Given the description of an element on the screen output the (x, y) to click on. 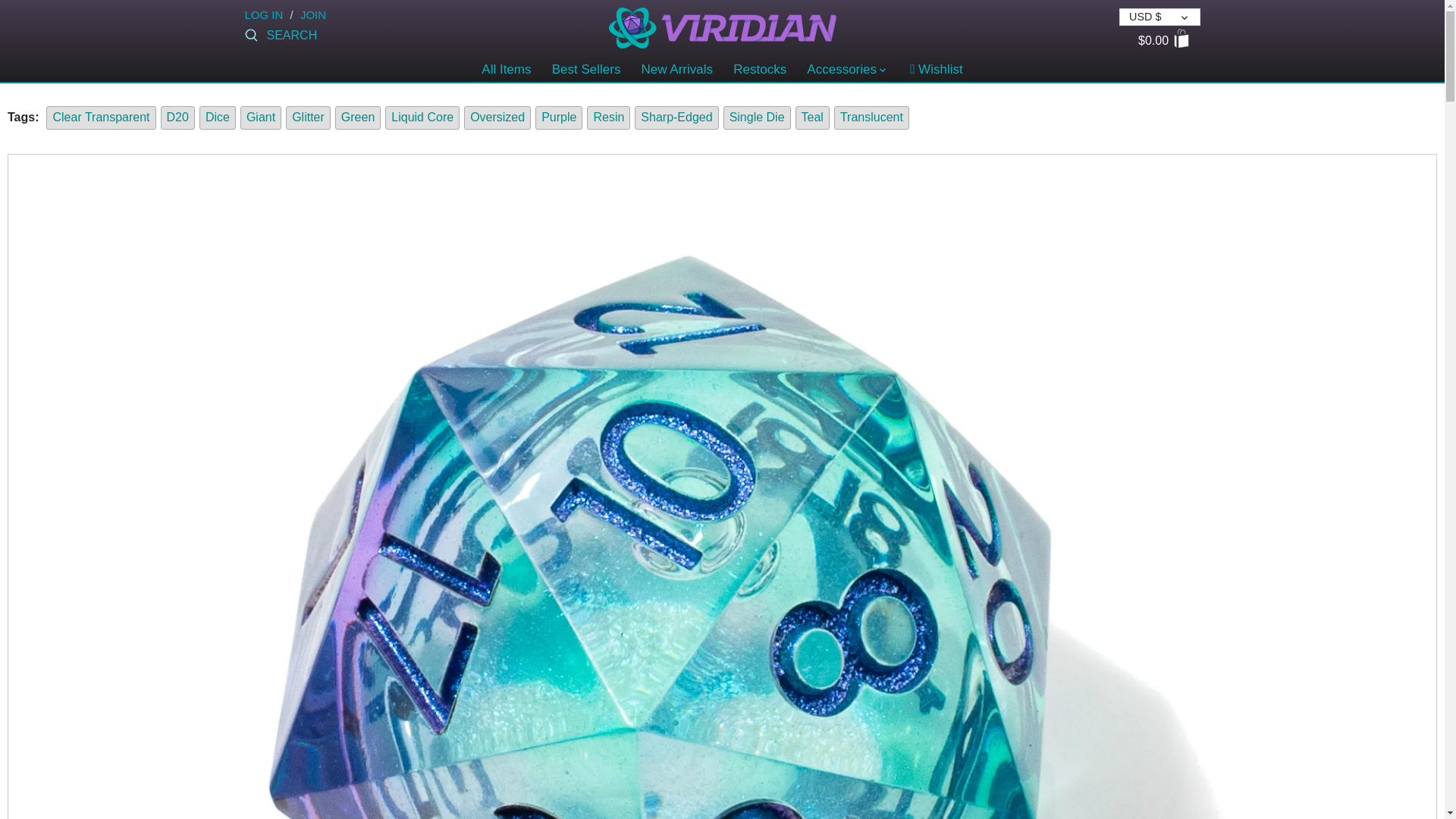
LOG IN (263, 14)
JOIN (312, 14)
